Given the description of an element on the screen output the (x, y) to click on. 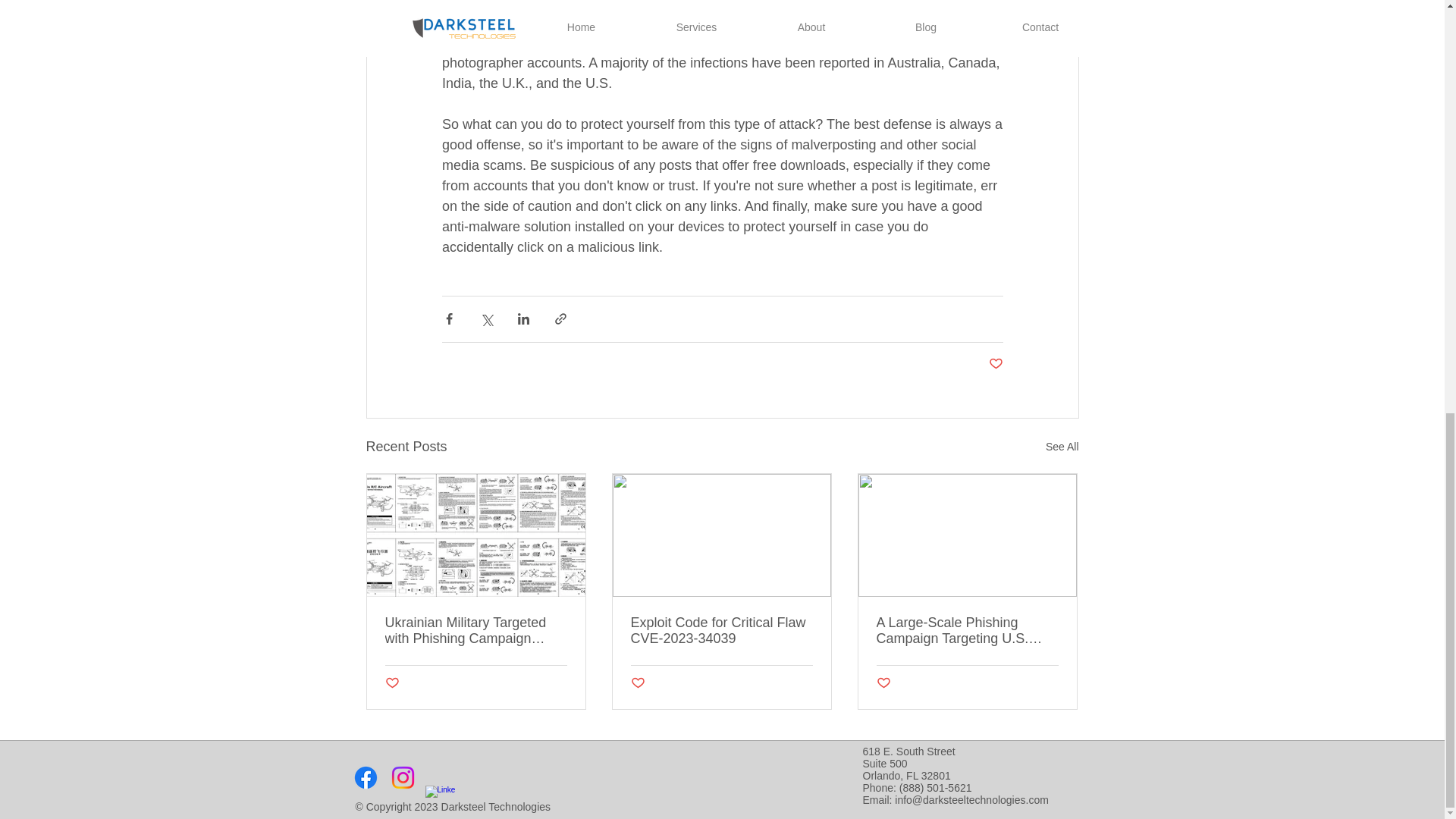
See All (1061, 445)
Post not marked as liked (995, 364)
Exploit Code for Critical Flaw CVE-2023-34039 (721, 630)
Post not marked as liked (391, 683)
Post not marked as liked (637, 683)
Post not marked as liked (883, 683)
